Given the description of an element on the screen output the (x, y) to click on. 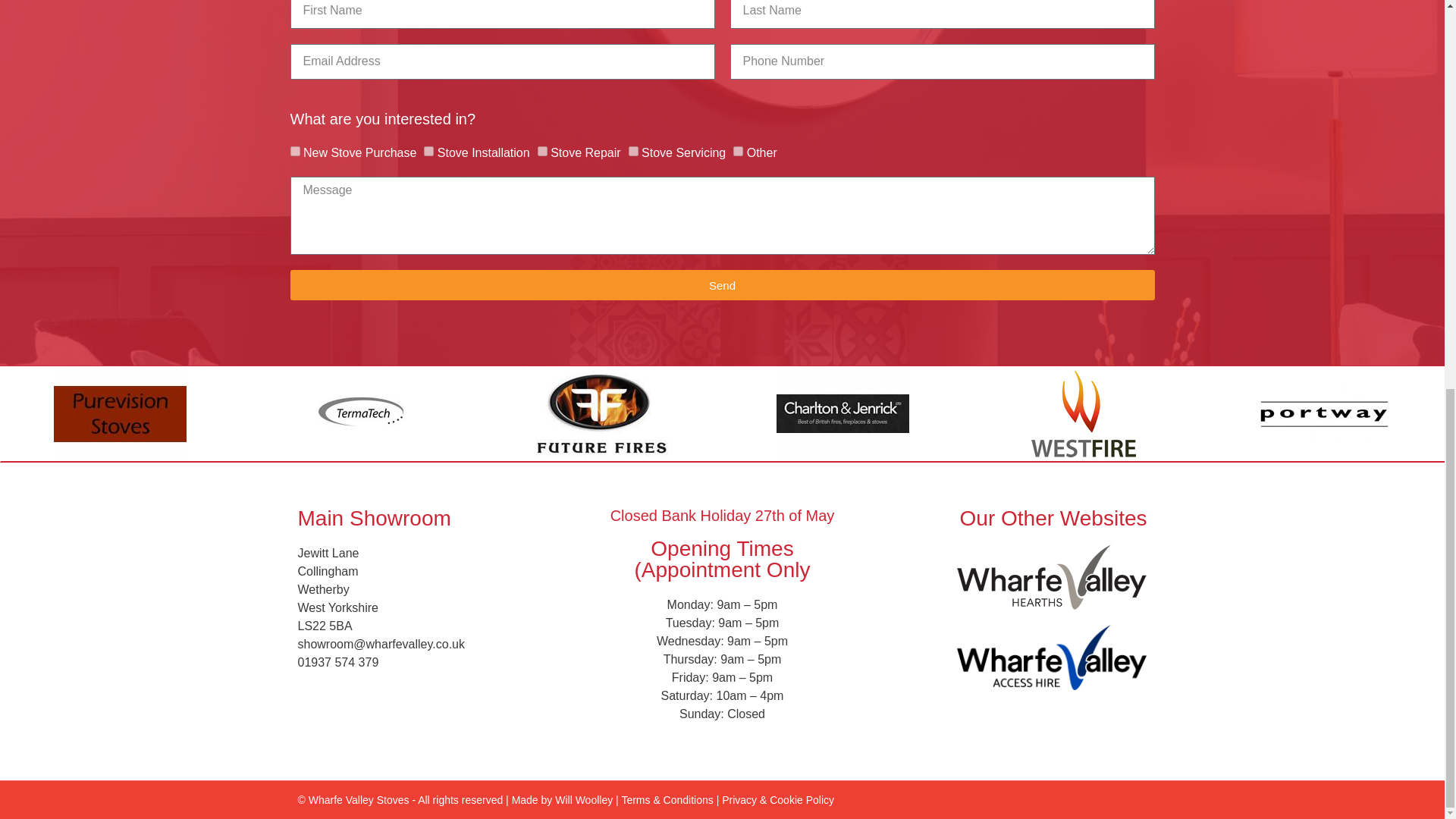
New Stove Purchase (294, 151)
Send (721, 285)
Will Woolley (583, 799)
Stove Installation (428, 151)
Other (737, 151)
Stove Repair (542, 151)
Stove Servicing (633, 151)
